Given the description of an element on the screen output the (x, y) to click on. 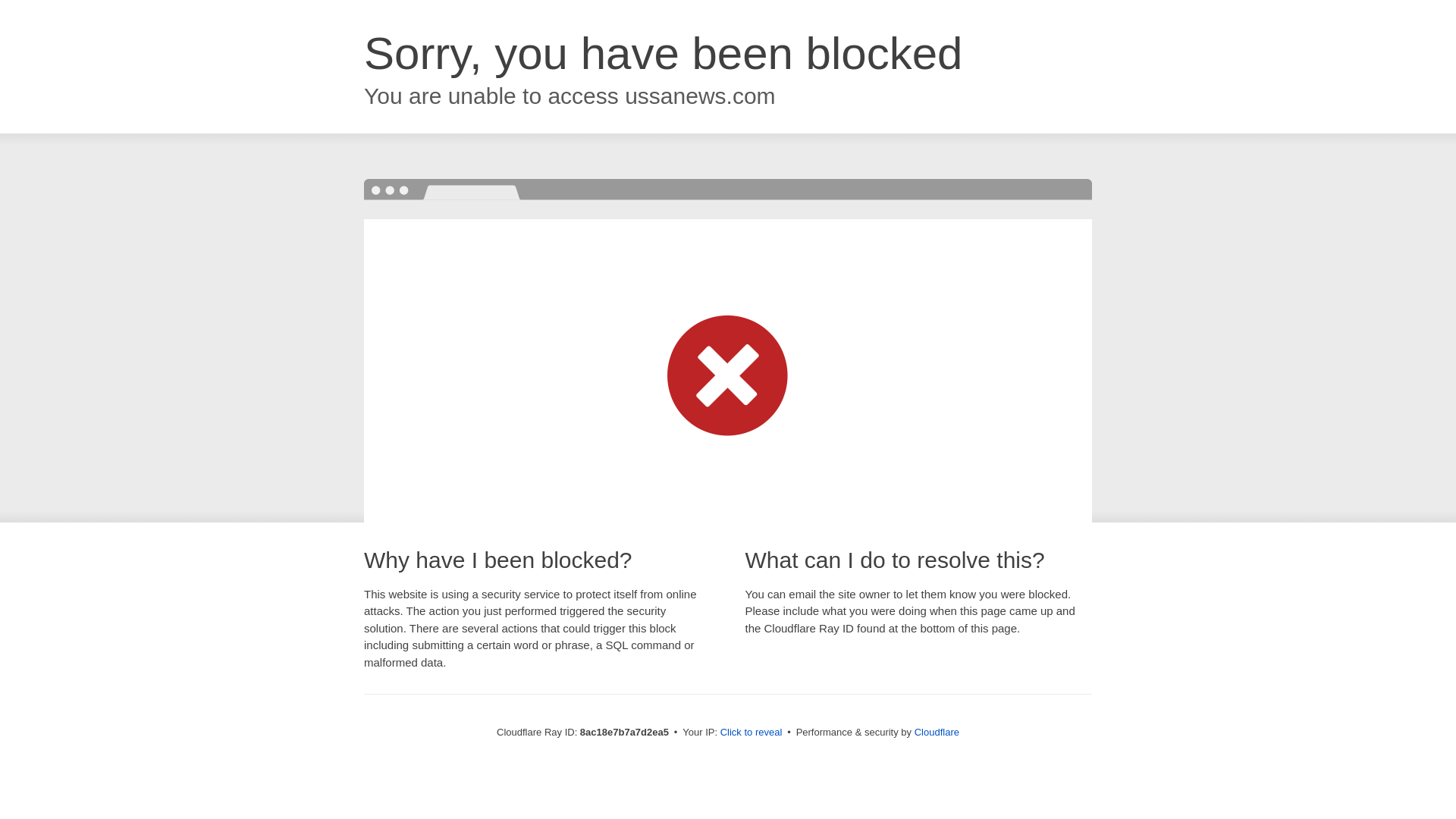
Click to reveal (751, 732)
Cloudflare (936, 731)
